Given the description of an element on the screen output the (x, y) to click on. 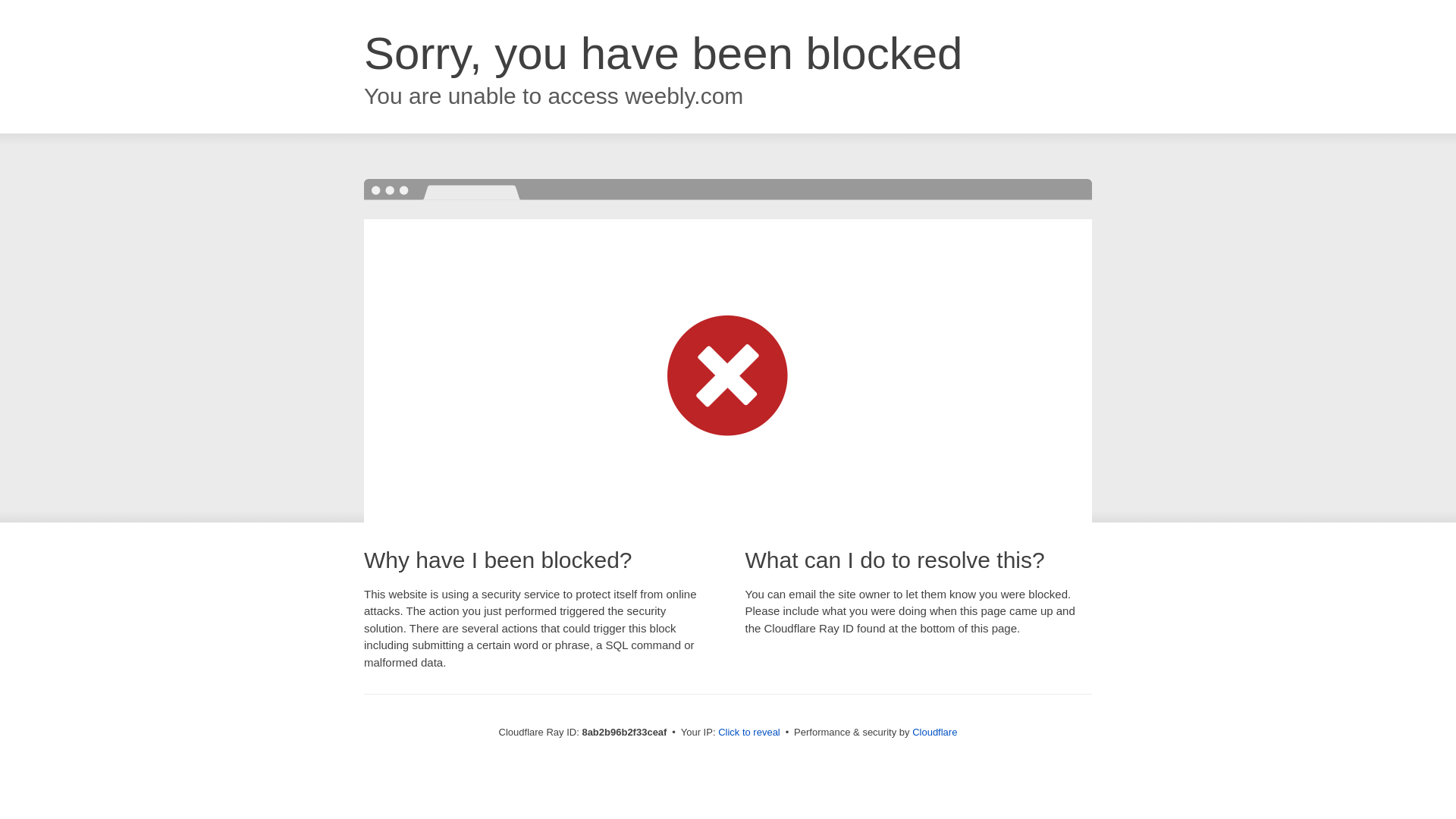
Click to reveal (748, 732)
Cloudflare (934, 731)
